Given the description of an element on the screen output the (x, y) to click on. 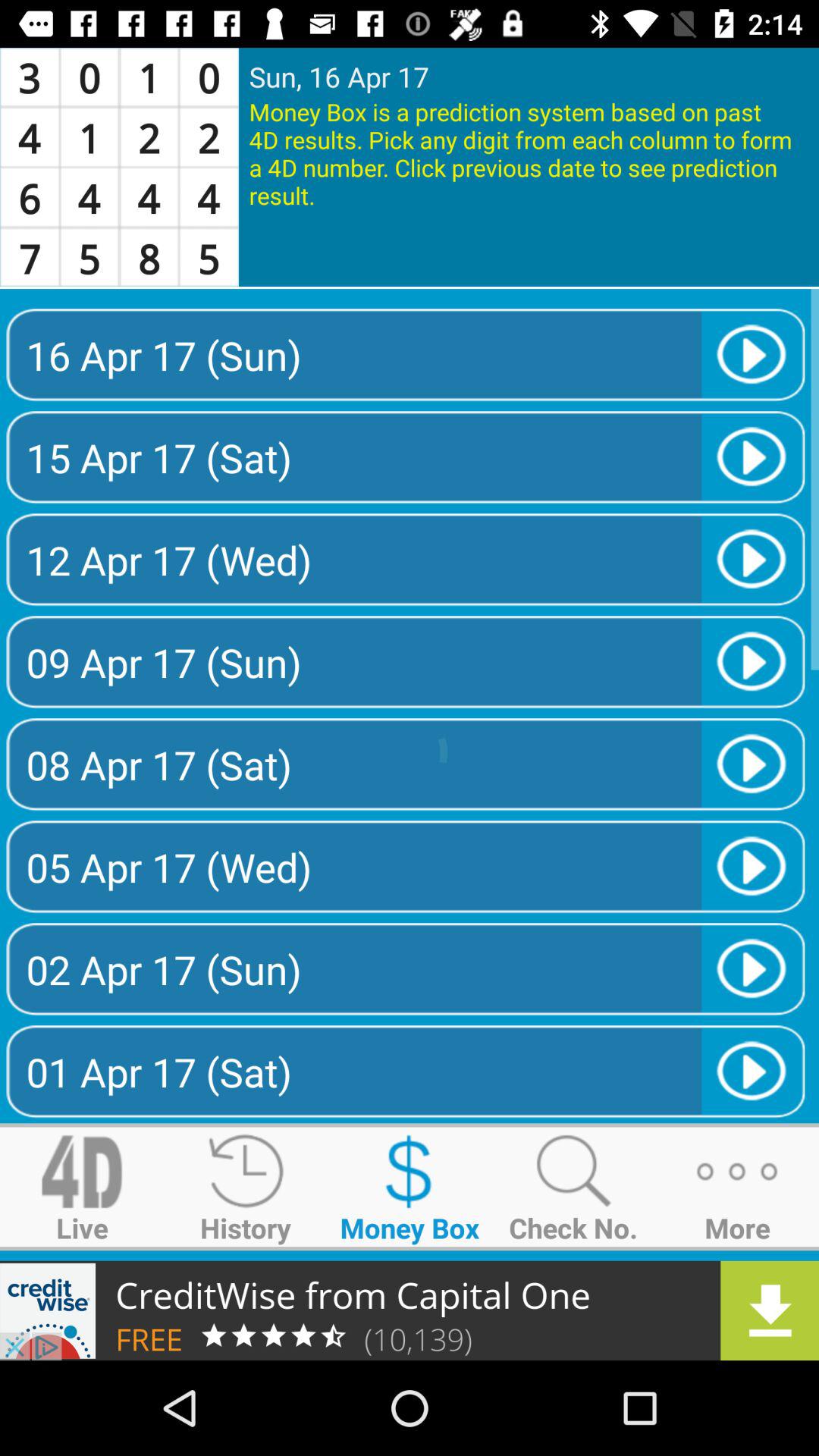
go to download (409, 1310)
